Given the description of an element on the screen output the (x, y) to click on. 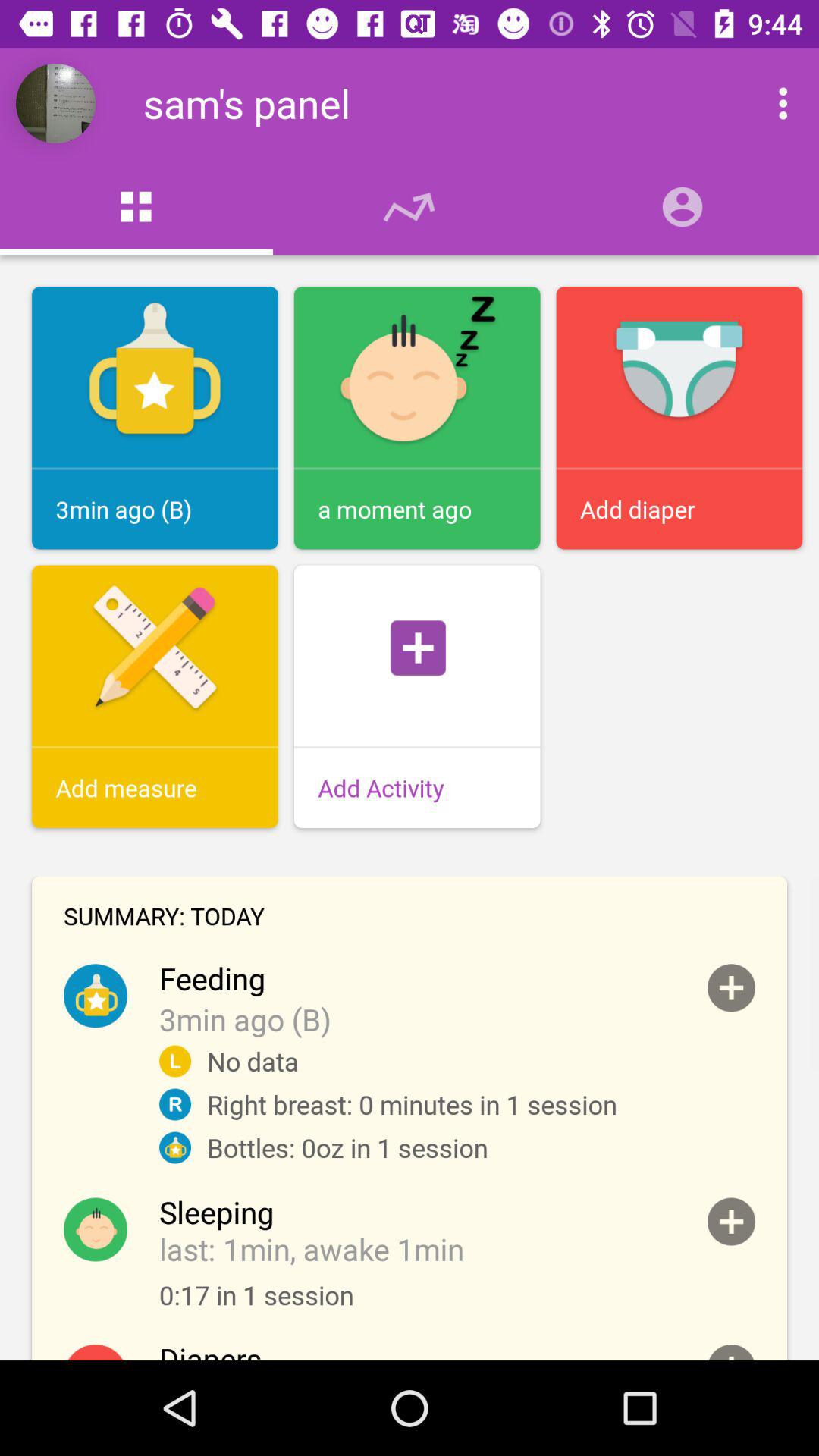
add a diaper (731, 1352)
